Given the description of an element on the screen output the (x, y) to click on. 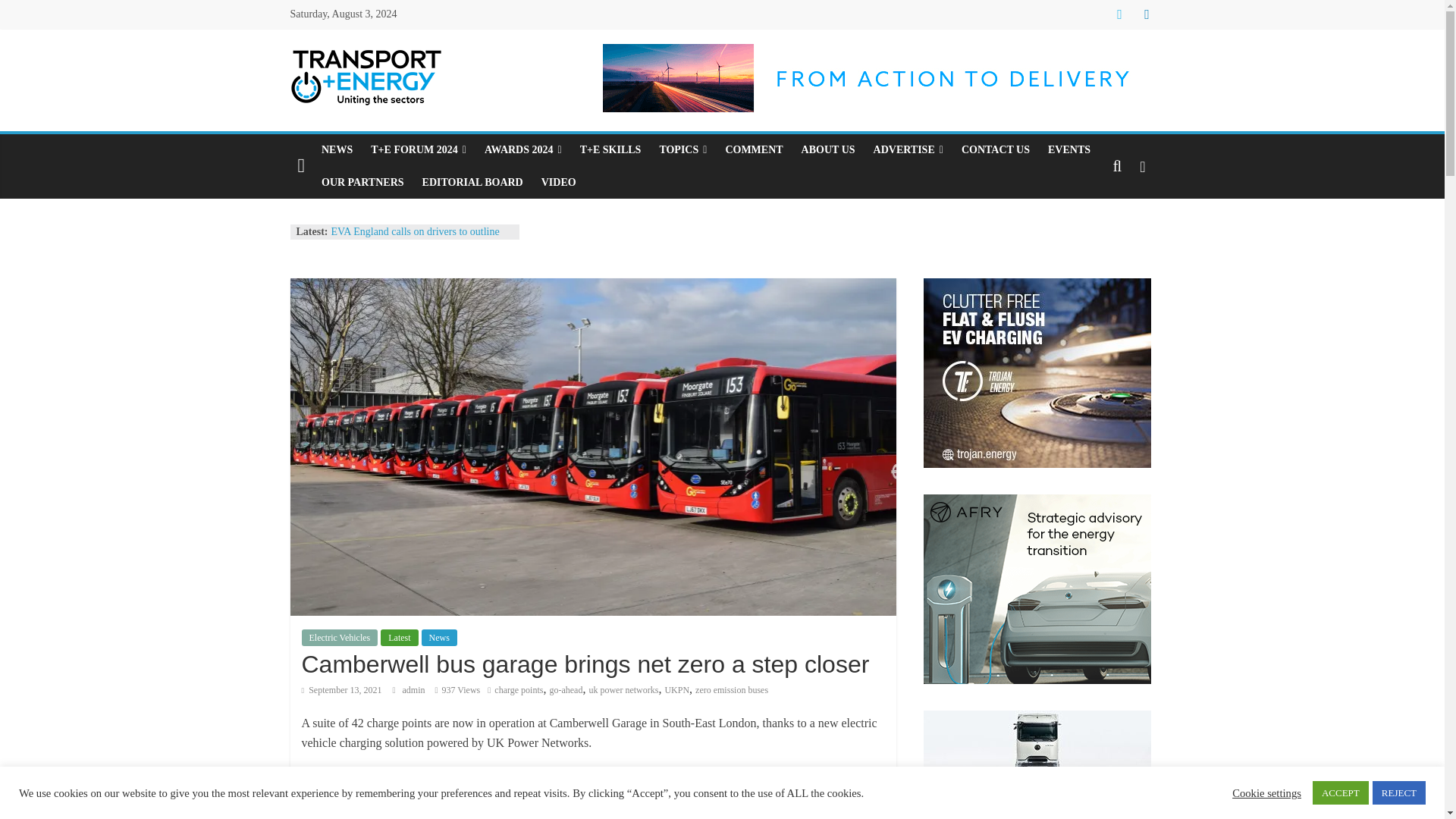
TOPICS (682, 150)
COMMENT (754, 150)
NEWS (337, 150)
admin (415, 689)
8:42 am (341, 689)
EVA England calls on drivers to outline priorities (414, 239)
AWARDS 2024 (523, 150)
